Given the description of an element on the screen output the (x, y) to click on. 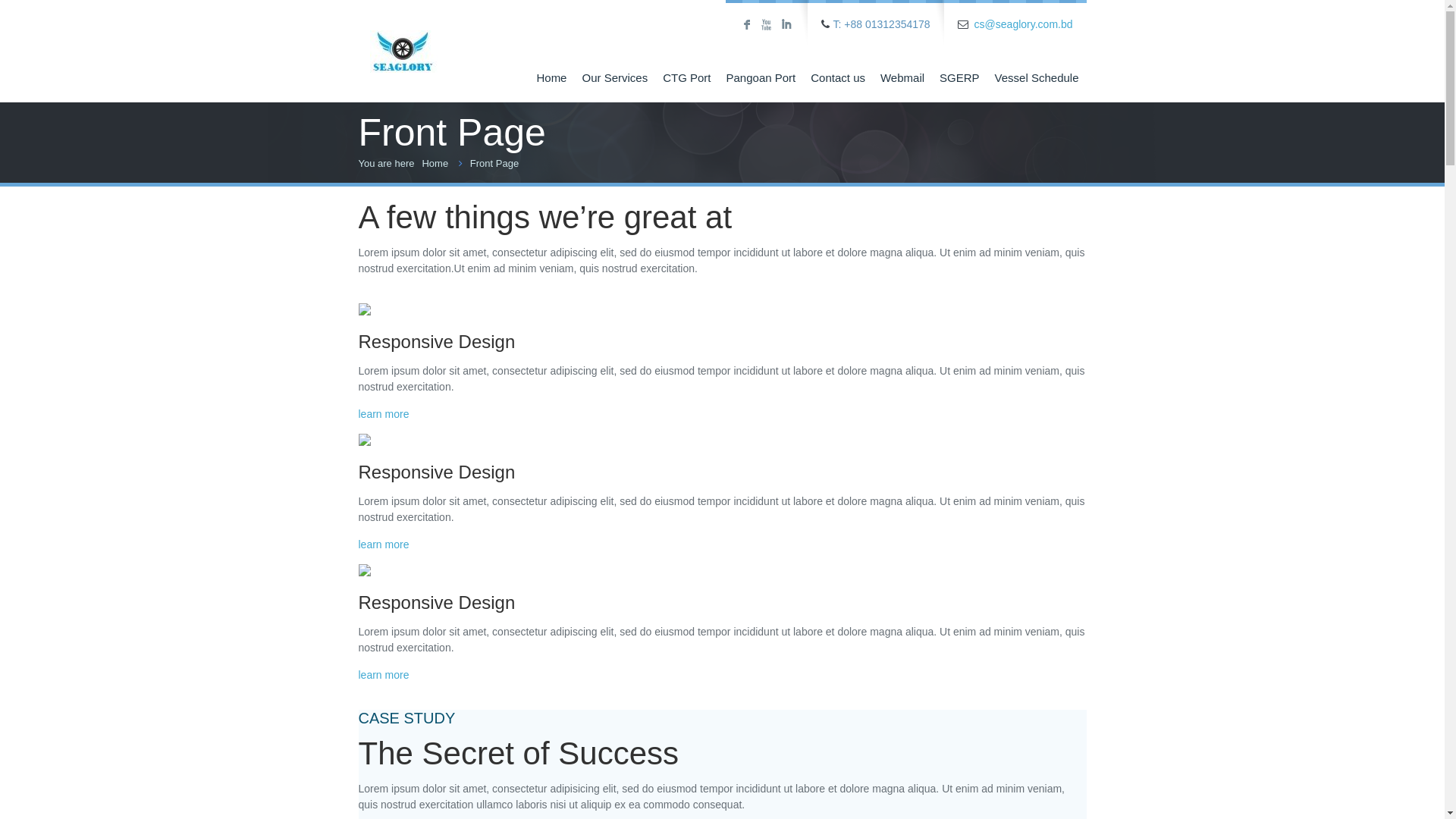
cs@seaglory.com.bd Element type: text (1023, 24)
F Element type: text (746, 24)
learn more Element type: text (382, 413)
Our Services Element type: text (614, 77)
Home Element type: text (434, 163)
Webmail Element type: text (901, 77)
Pangoan Port Element type: text (760, 77)
Contact us Element type: text (837, 77)
SEA GLORY SHIPPING AGENCIES LTD Element type: hover (402, 38)
CTG Port Element type: text (686, 77)
X Element type: text (766, 24)
I Element type: text (786, 24)
learn more Element type: text (382, 674)
learn more Element type: text (382, 544)
Front Page Element type: text (494, 163)
Home Element type: text (551, 77)
SGERP Element type: text (959, 77)
Vessel Schedule Element type: text (1036, 77)
